Given the description of an element on the screen output the (x, y) to click on. 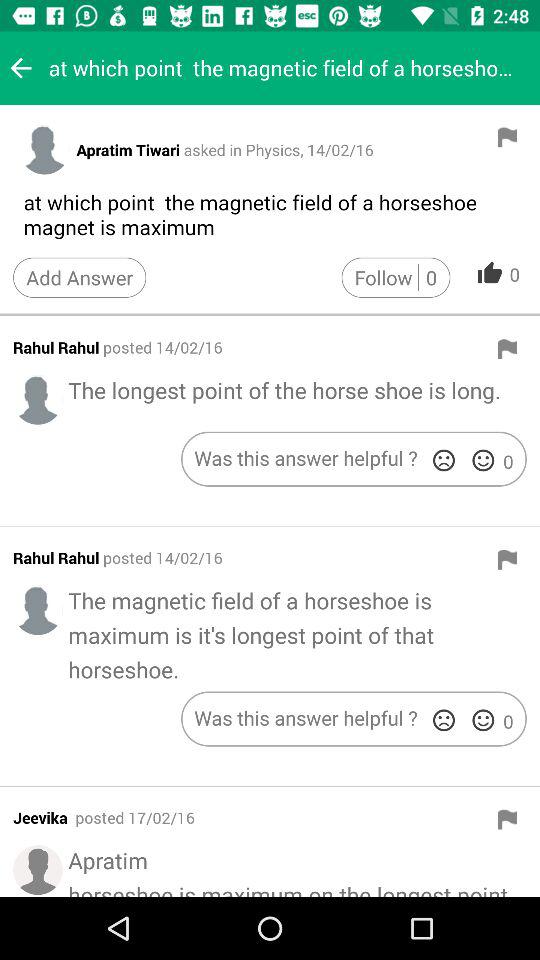
select to show helpful (483, 460)
